Given the description of an element on the screen output the (x, y) to click on. 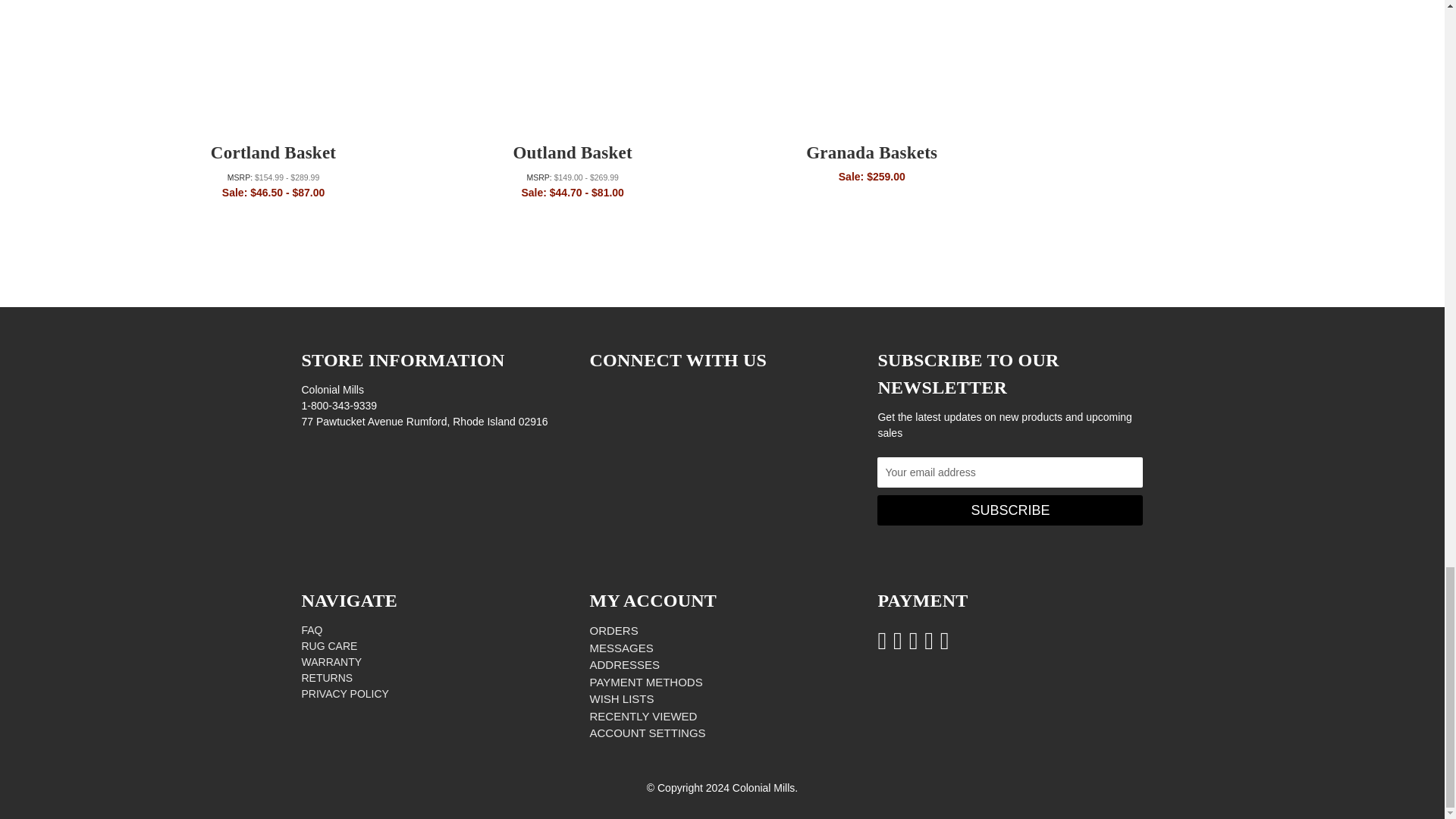
X (645, 393)
Instagram (597, 393)
Pinterest (670, 393)
Subscribe (1009, 510)
Facebook (620, 393)
